Given the description of an element on the screen output the (x, y) to click on. 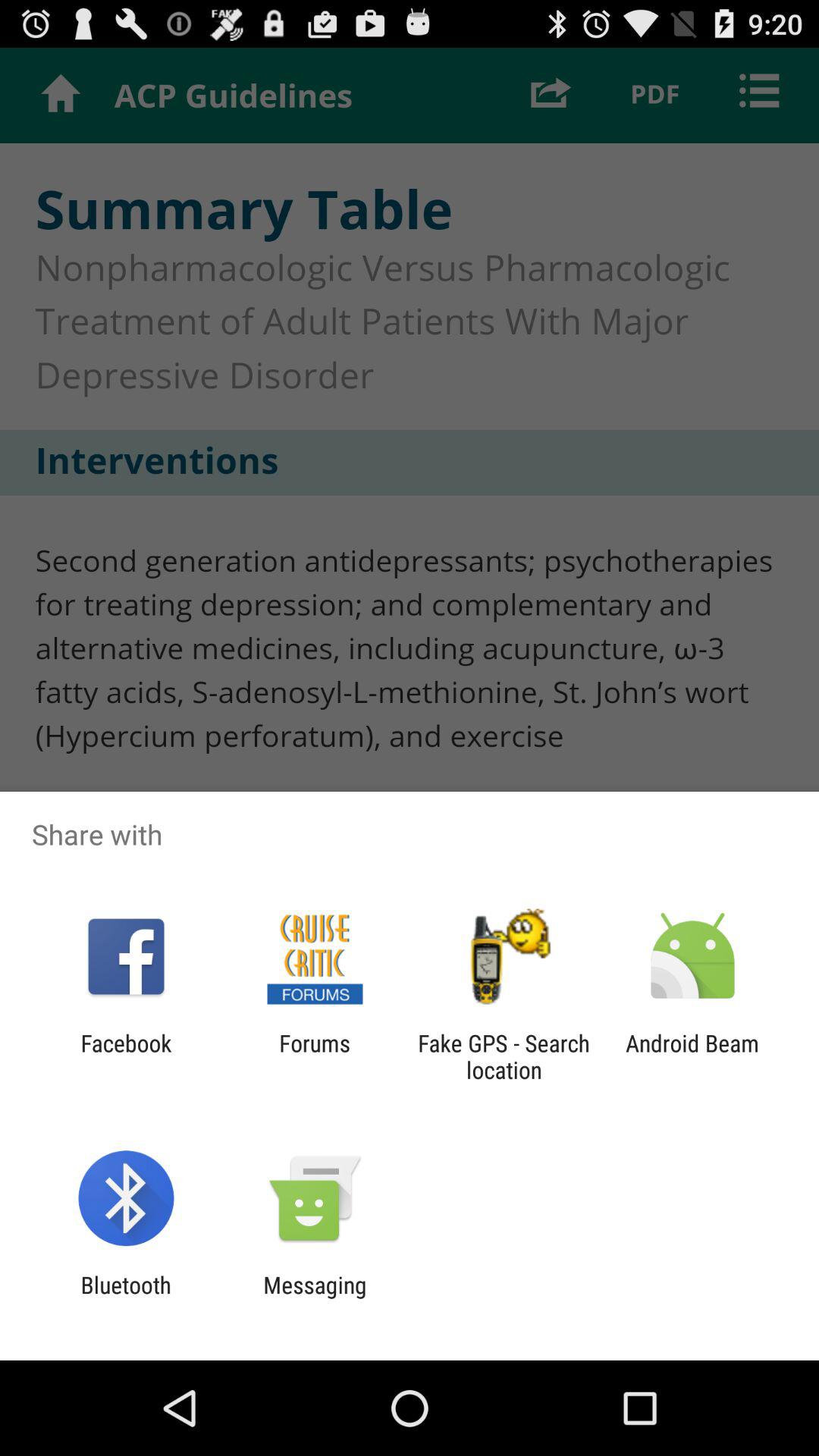
select app to the right of the facebook item (314, 1056)
